Given the description of an element on the screen output the (x, y) to click on. 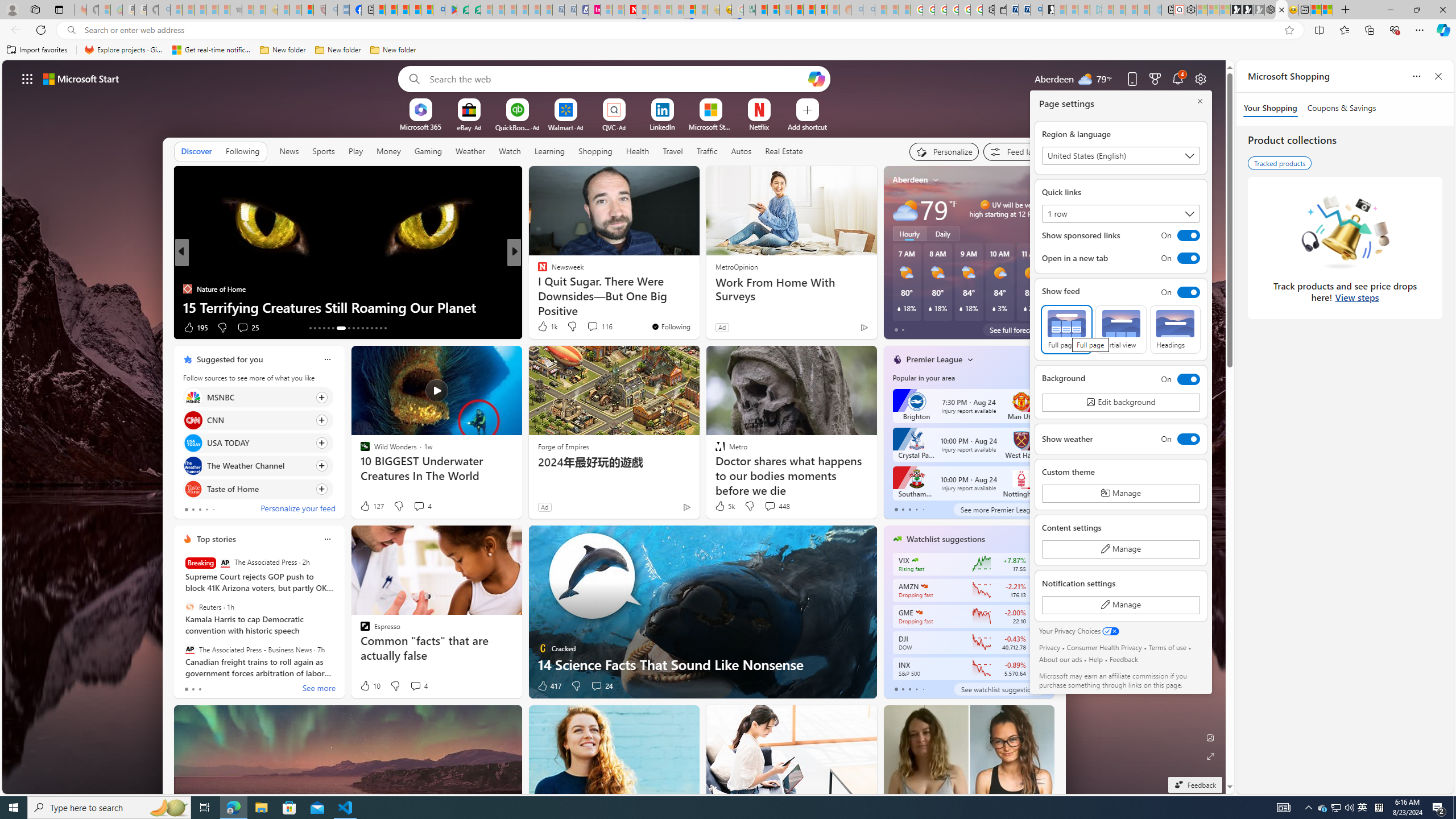
View comments 24 Comment (601, 685)
SlashGear (537, 288)
Search icon (70, 29)
Money (388, 151)
Traffic (706, 151)
AutomationID: tab-41 (380, 328)
Ancient Creatures That Are Still Alive (697, 307)
View comments 25 Comment (247, 327)
Manage (1120, 605)
Premier League (933, 359)
